Given the description of an element on the screen output the (x, y) to click on. 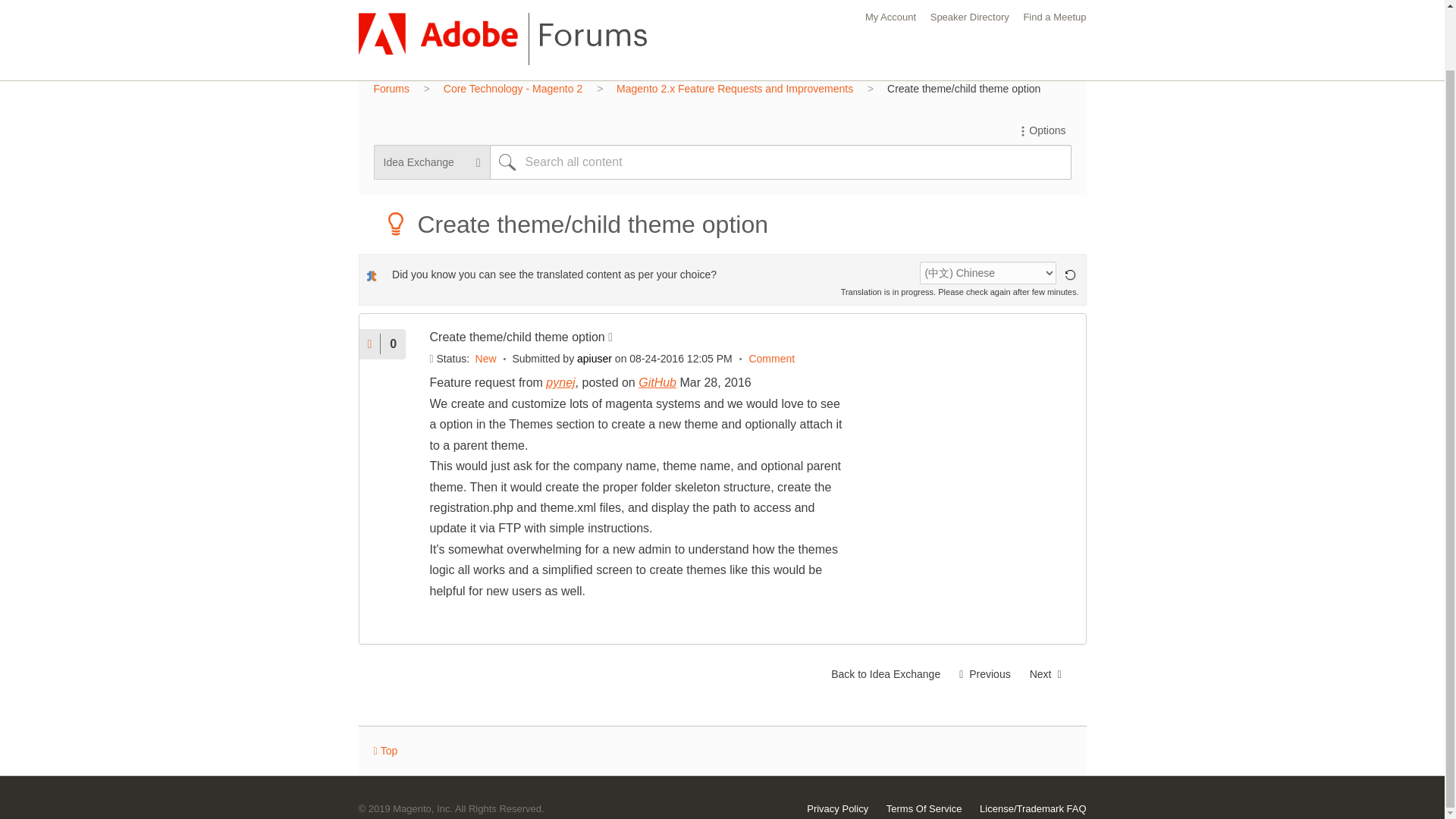
Magento 2.x Feature Requests and Improvements (734, 88)
Comment (771, 358)
Show option menu (1040, 130)
Top (385, 750)
GitHub (658, 382)
apiuser (593, 358)
Search Granularity (430, 161)
Options (1040, 130)
Forums (390, 88)
Top (385, 750)
The total number of kudos this post has received. (393, 343)
Search (506, 161)
Click here to refresh translation (1069, 274)
Sign In (1054, 48)
Search (506, 161)
